Given the description of an element on the screen output the (x, y) to click on. 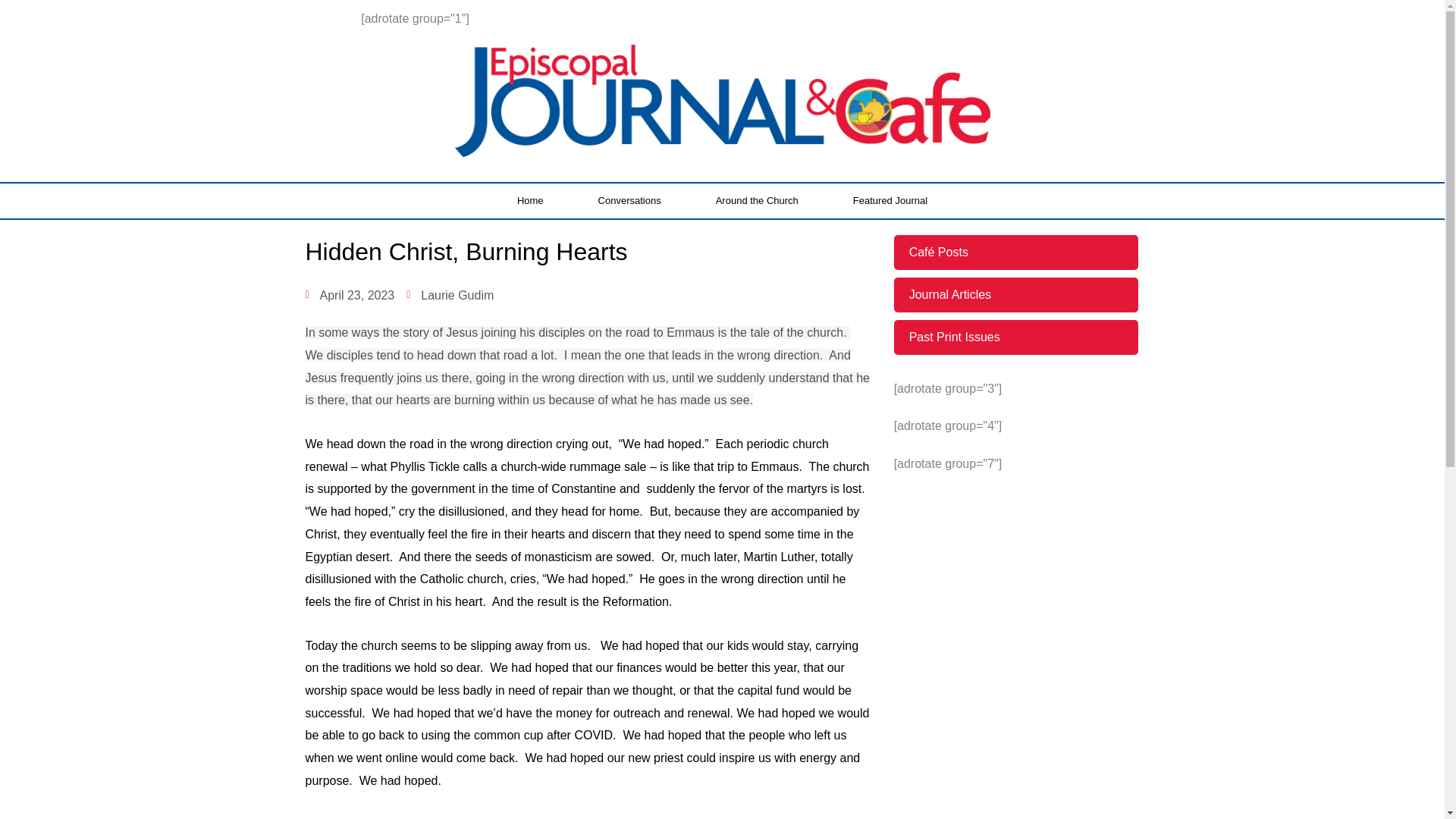
Home (529, 200)
Past Print Issues (1015, 337)
Laurie Gudim (449, 294)
Featured Journal (890, 200)
Around the Church (756, 200)
Journal Articles (1015, 294)
April 23, 2023 (349, 294)
Conversations (629, 200)
